Given the description of an element on the screen output the (x, y) to click on. 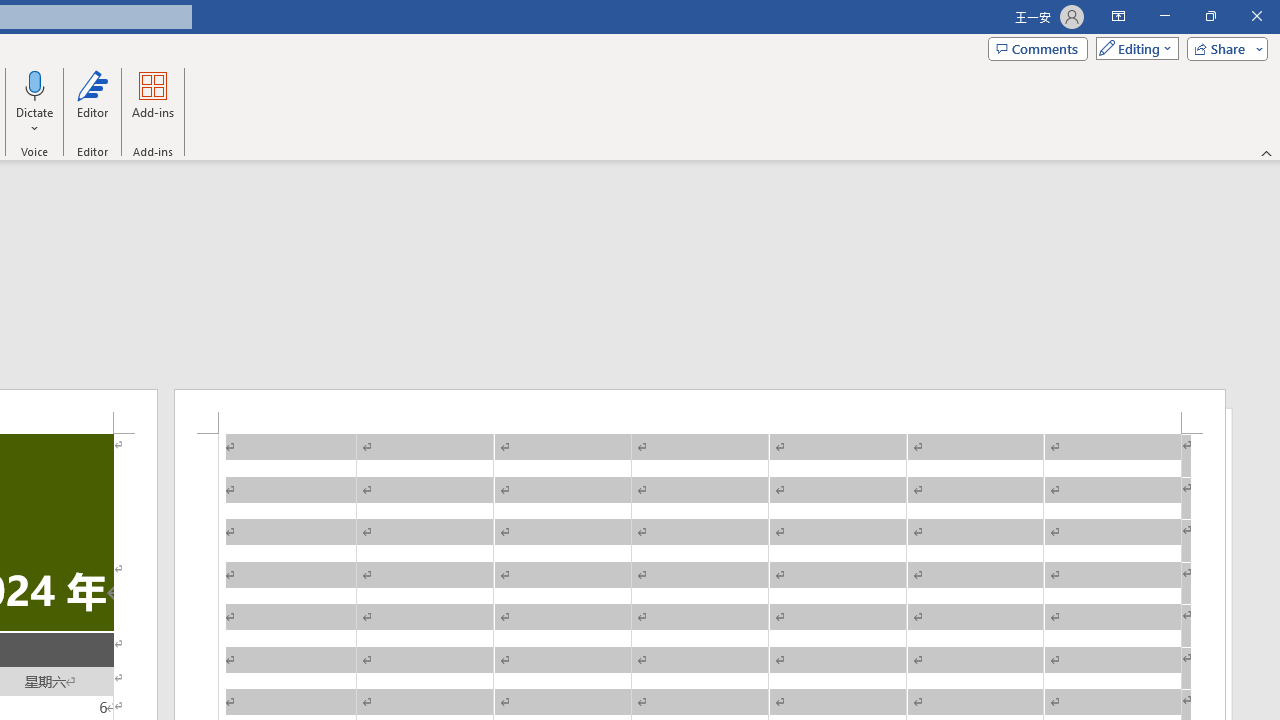
Header -Section 1- (700, 411)
Ribbon Display Options (1118, 16)
Editor (92, 102)
Collapse the Ribbon (1267, 152)
